Given the description of an element on the screen output the (x, y) to click on. 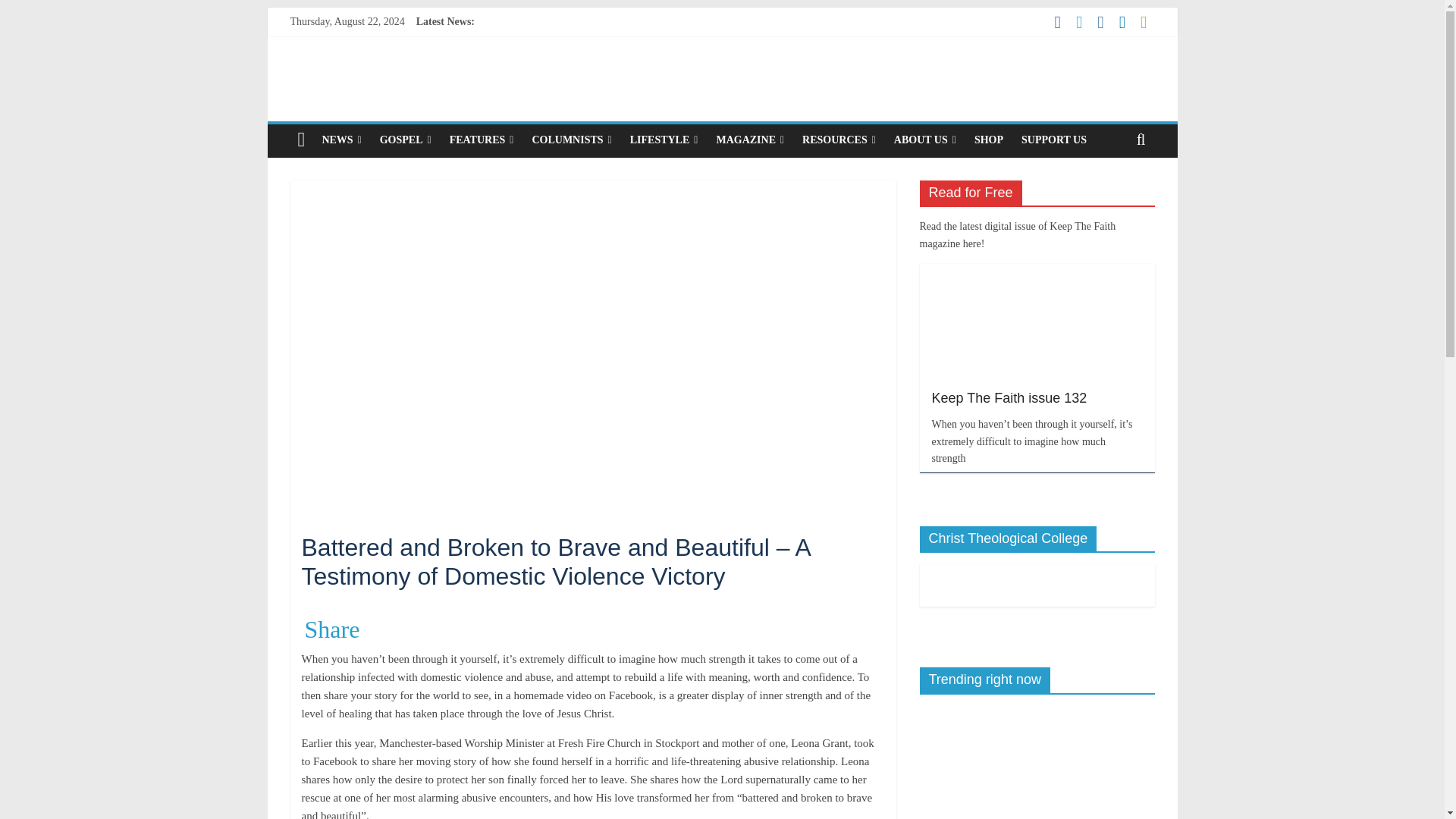
LIFESTYLE (664, 140)
COLUMNISTS (571, 140)
GOSPEL (406, 140)
NEWS (341, 140)
FEATURES (481, 140)
